Given the description of an element on the screen output the (x, y) to click on. 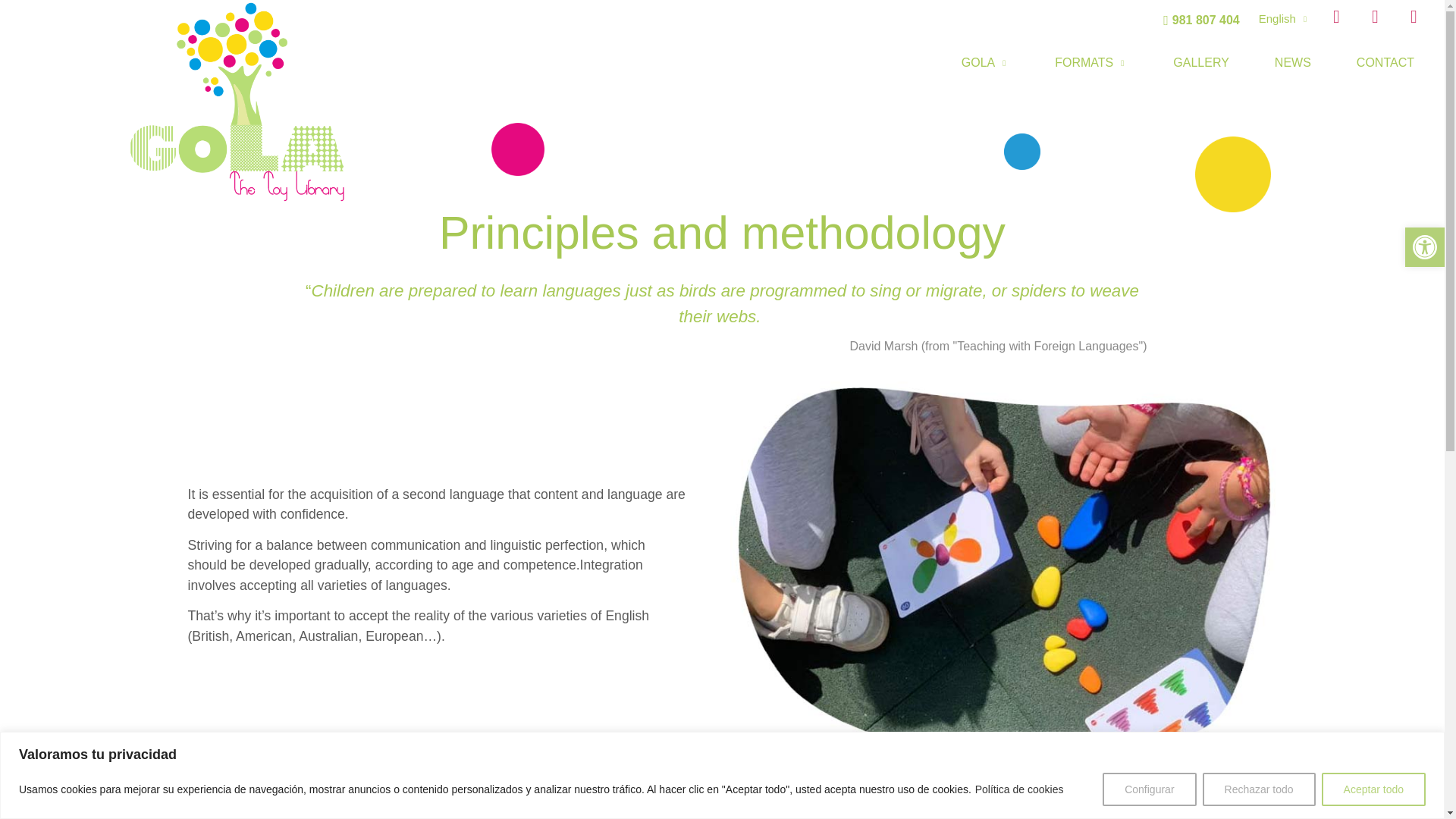
Configurar (1148, 788)
GOLA (985, 62)
Aceptar todo (1373, 788)
Accessibility Tools (1424, 247)
Rechazar todo (1259, 788)
English (1288, 18)
